Given the description of an element on the screen output the (x, y) to click on. 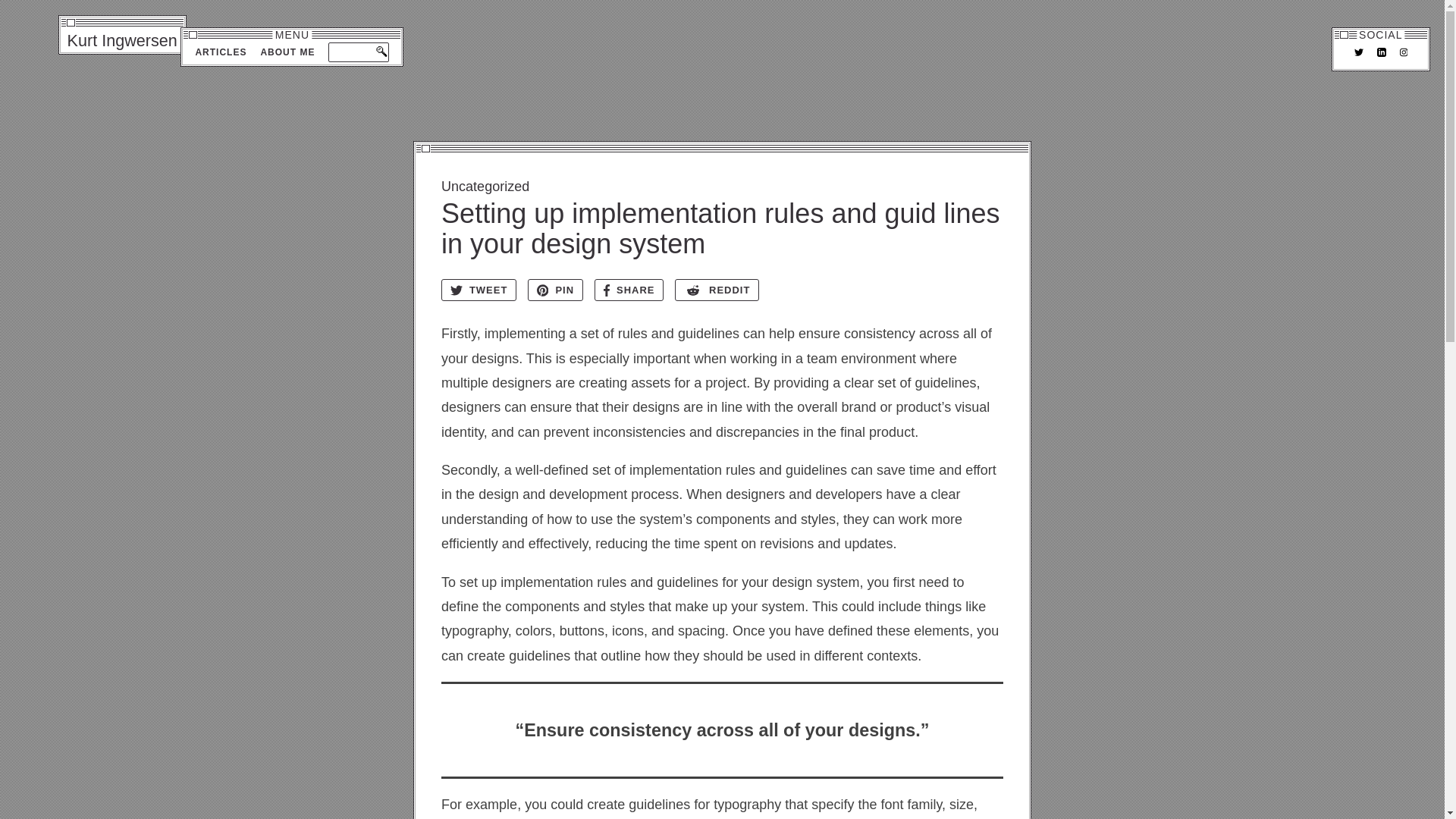
Search (379, 49)
TWEET (478, 290)
Search (379, 49)
Kurt Ingwersen (122, 41)
Search (379, 49)
PIN (555, 290)
SHARE (628, 290)
ARTICLES (220, 51)
ABOUT ME (287, 51)
Uncategorized (722, 186)
REDDIT (716, 290)
